Given the description of an element on the screen output the (x, y) to click on. 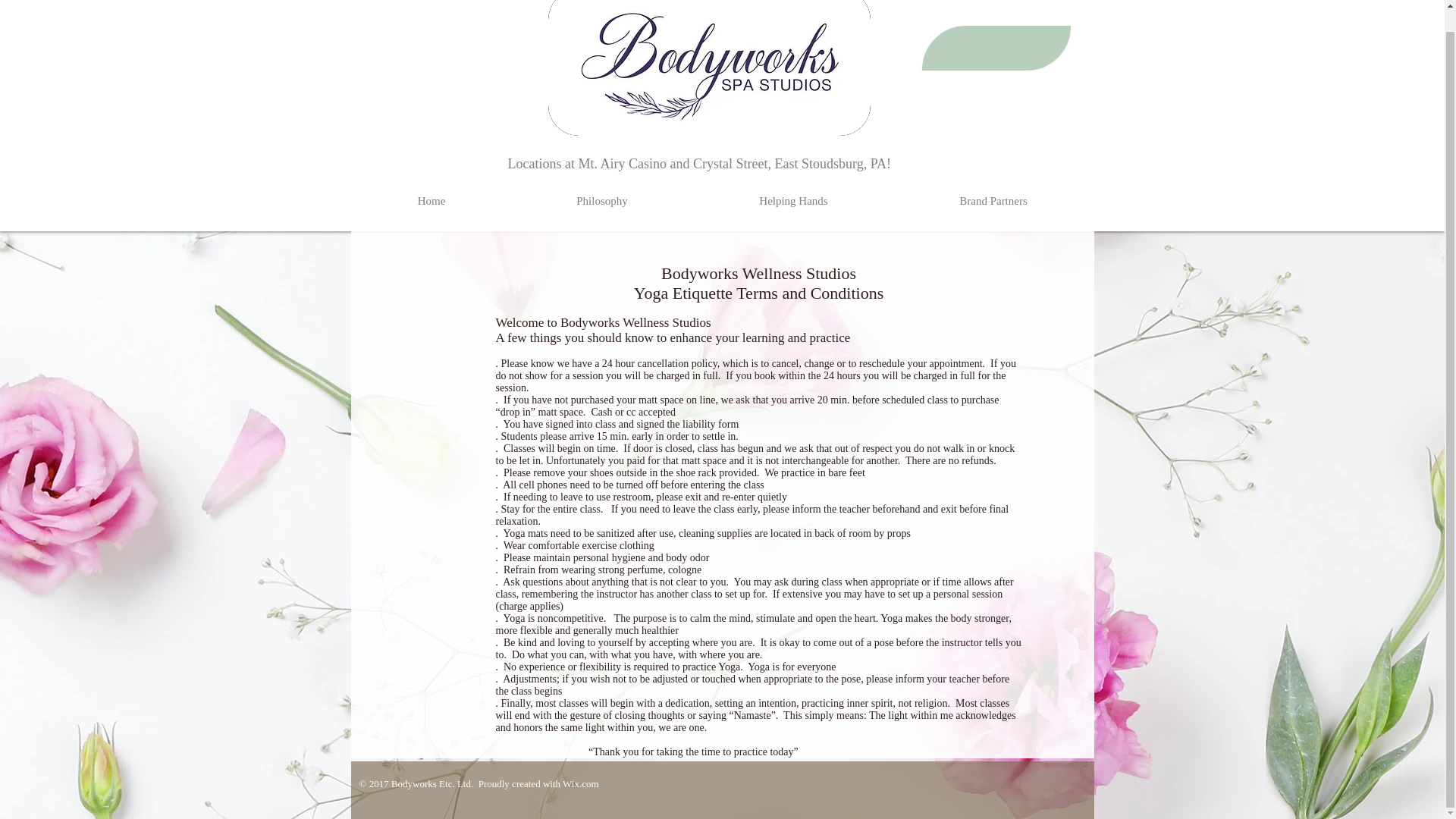
Wix.com (580, 783)
Helping Hands (793, 200)
Brand Partners (992, 200)
Home (431, 200)
Philosophy (602, 200)
